Given the description of an element on the screen output the (x, y) to click on. 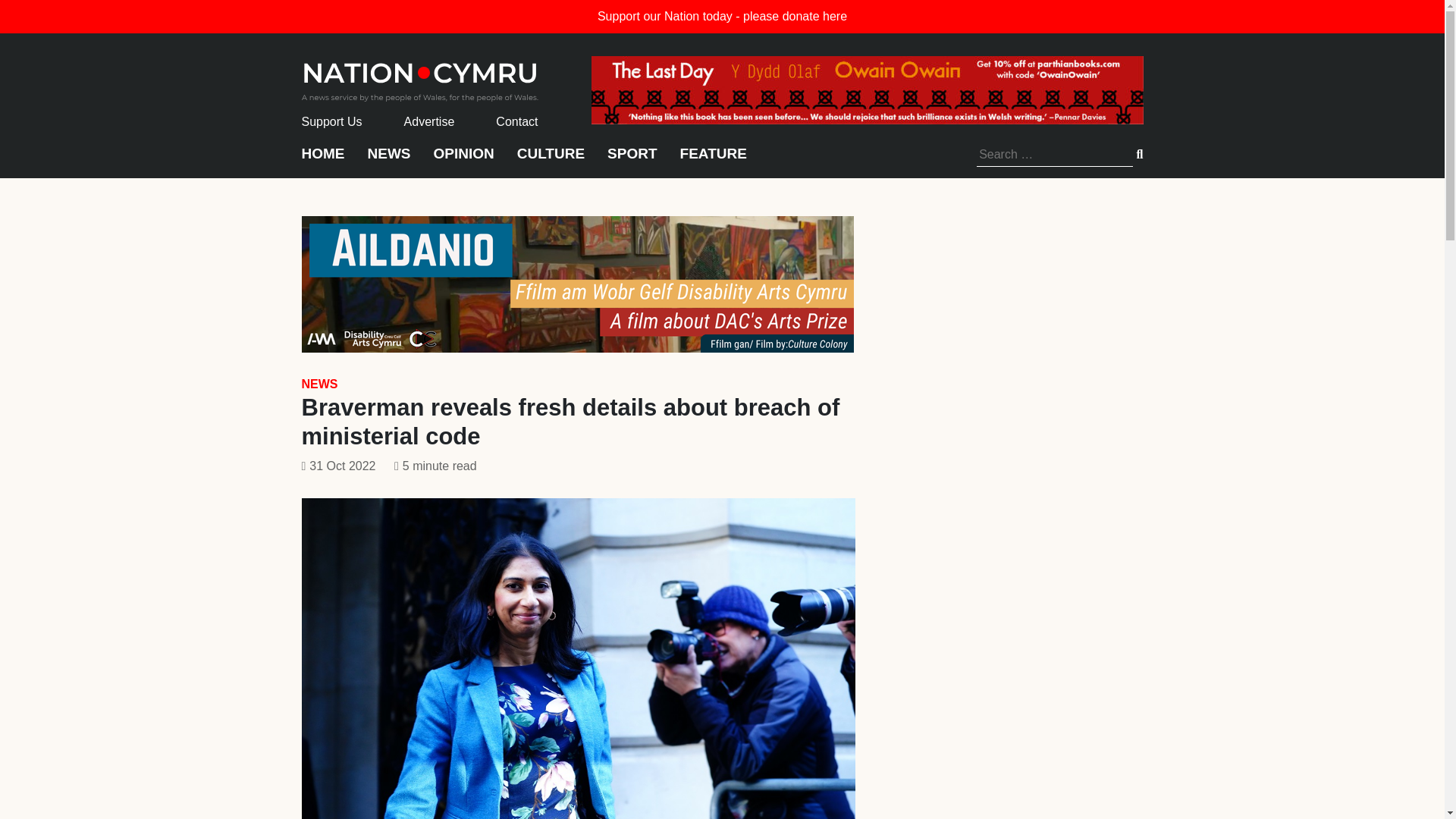
CULTURE (550, 160)
SPORT (631, 160)
Support Us (331, 121)
NEWS (319, 383)
Contact (516, 121)
FEATURE (712, 160)
NEWS (388, 160)
home (419, 77)
HOME (323, 160)
OPINION (464, 160)
Advertise (429, 121)
